Given the description of an element on the screen output the (x, y) to click on. 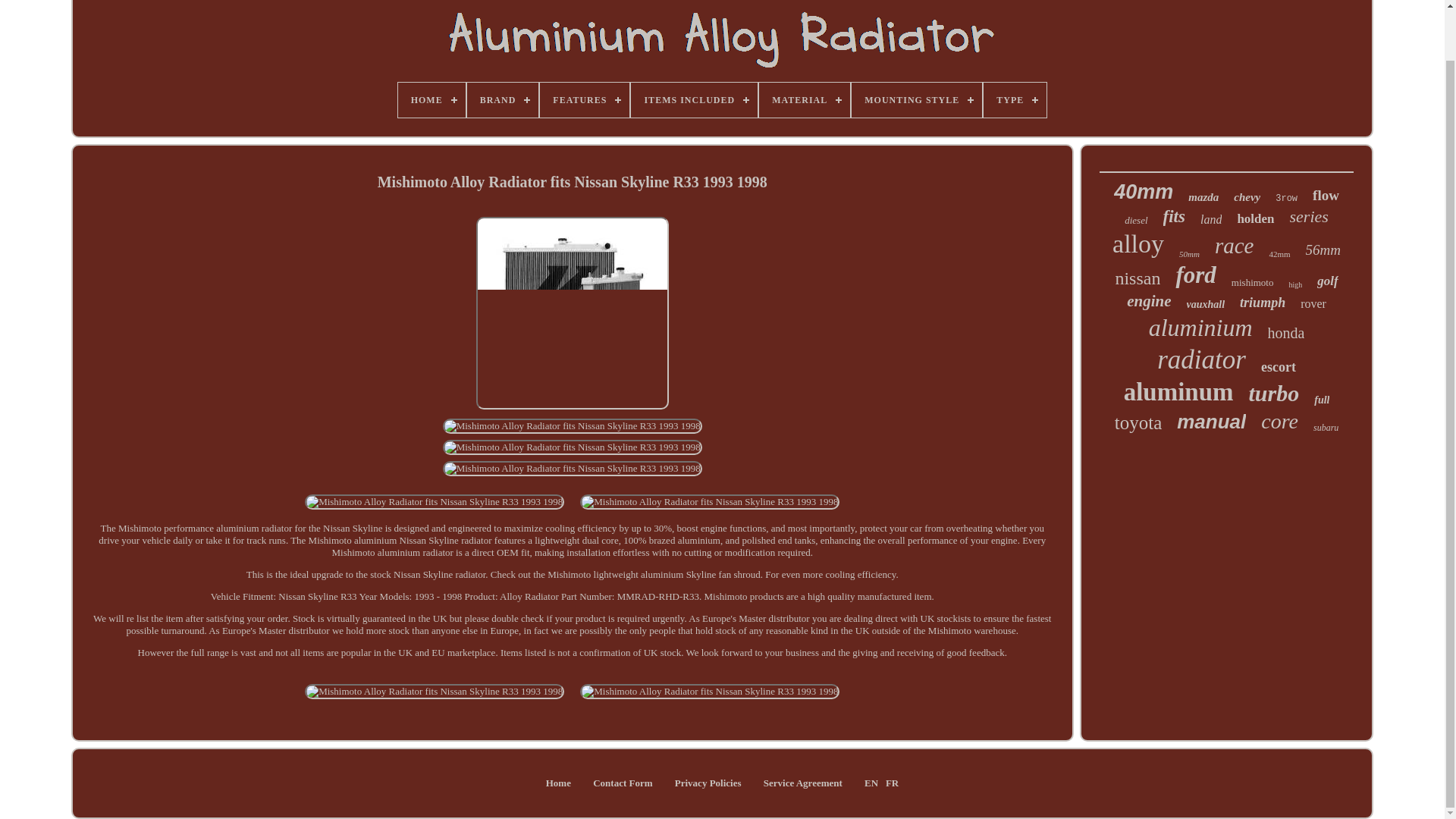
Mishimoto Alloy Radiator fits Nissan Skyline R33 1993 1998 (572, 313)
BRAND (502, 99)
Mishimoto Alloy Radiator fits Nissan Skyline R33 1993 1998 (434, 501)
Mishimoto Alloy Radiator fits Nissan Skyline R33 1993 1998 (571, 426)
Mishimoto Alloy Radiator fits Nissan Skyline R33 1993 1998 (571, 468)
HOME (431, 99)
Mishimoto Alloy Radiator fits Nissan Skyline R33 1993 1998 (434, 691)
FEATURES (584, 99)
Mishimoto Alloy Radiator fits Nissan Skyline R33 1993 1998 (709, 691)
Mishimoto Alloy Radiator fits Nissan Skyline R33 1993 1998 (709, 501)
